Given the description of an element on the screen output the (x, y) to click on. 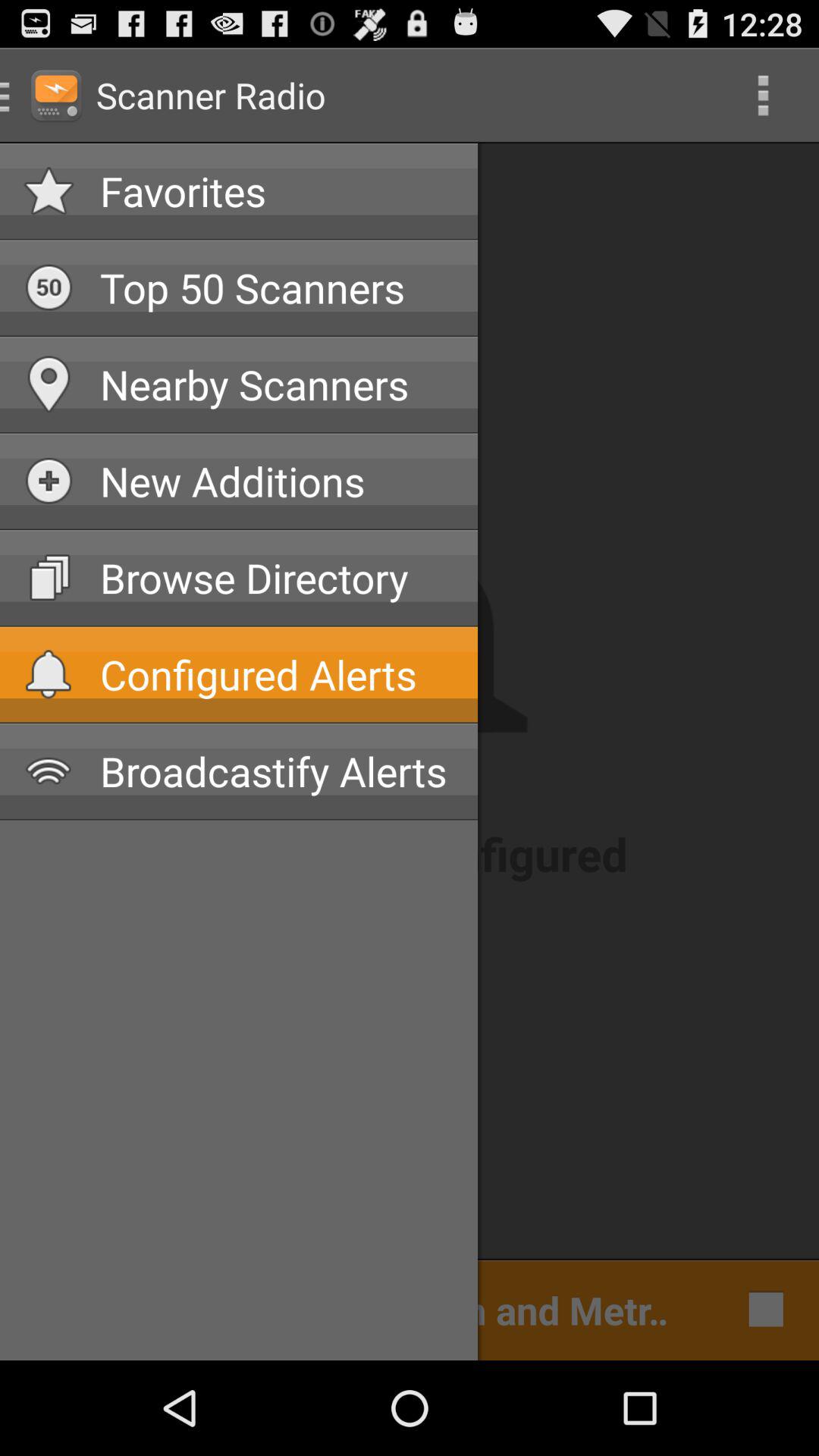
click the broadcastify alerts item (276, 771)
